Given the description of an element on the screen output the (x, y) to click on. 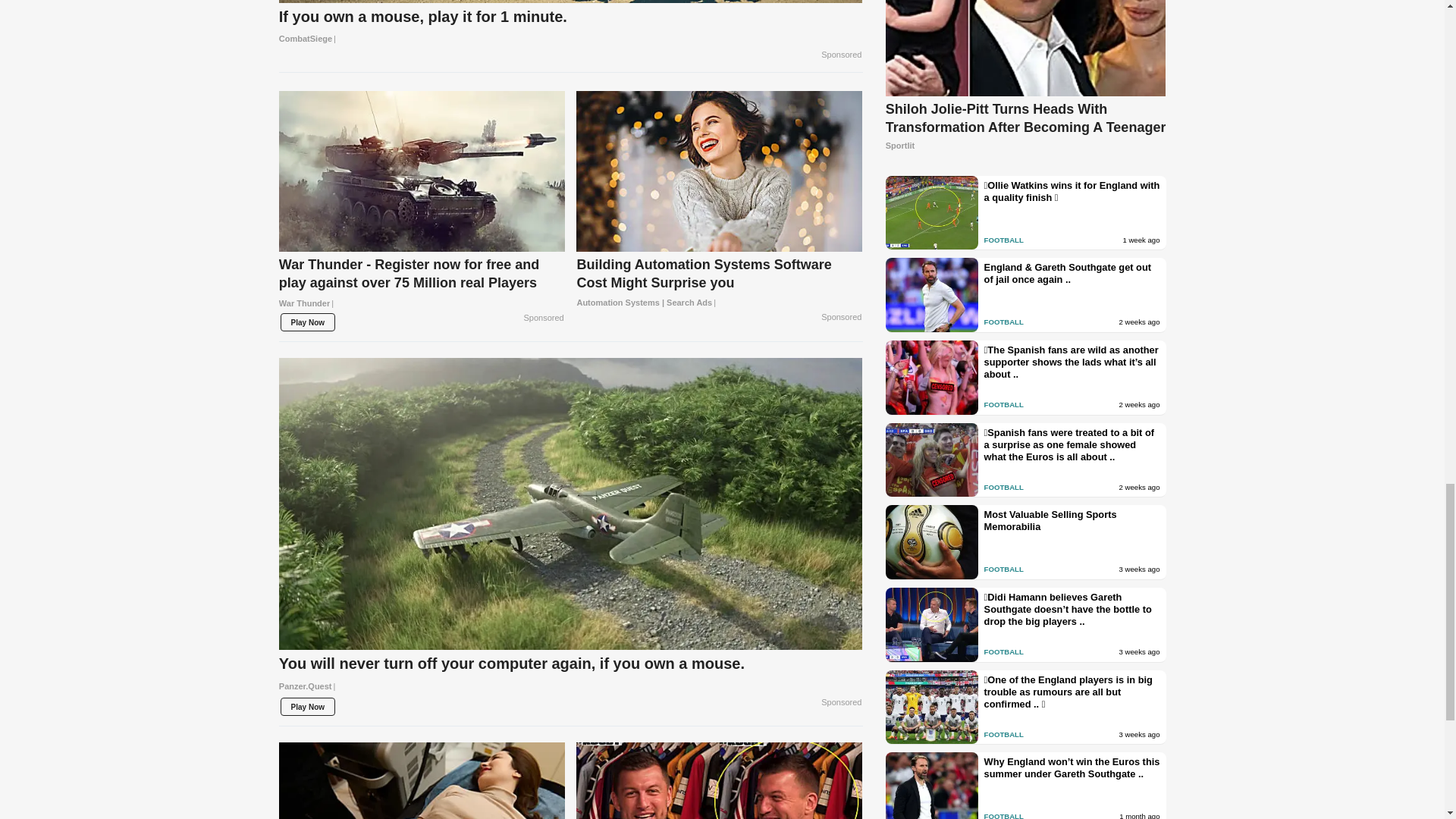
Sponsored (544, 318)
Sponsored (841, 54)
Play Now (307, 321)
